Given the description of an element on the screen output the (x, y) to click on. 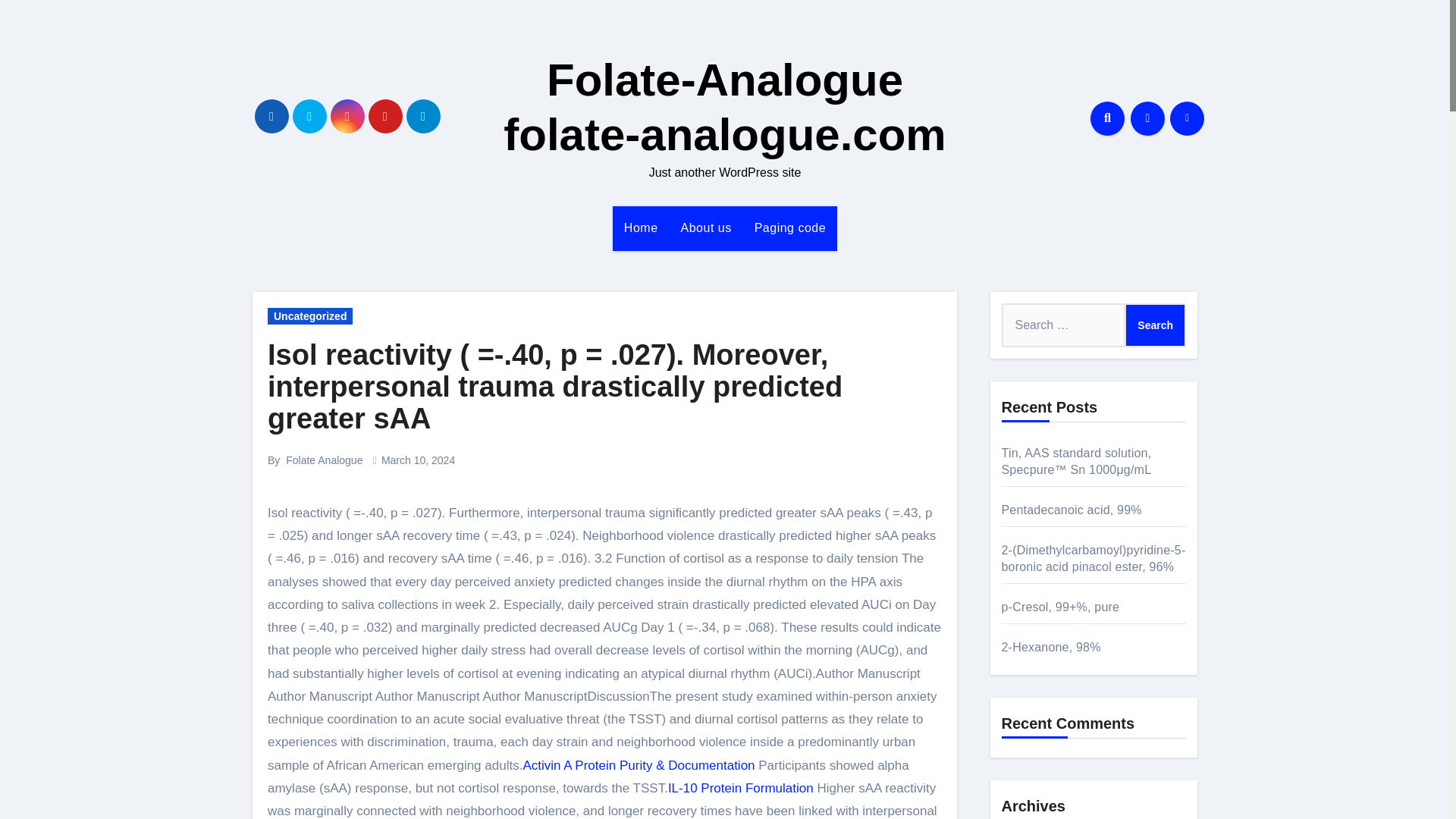
Folate-Analogue folate-analogue.com (723, 106)
March 10, 2024 (417, 460)
Paging code (789, 228)
Home (640, 228)
Folate Analogue (323, 460)
Home (640, 228)
Uncategorized (309, 315)
IL-10 Protein Formulation (740, 788)
Search (1155, 325)
About us (705, 228)
